Given the description of an element on the screen output the (x, y) to click on. 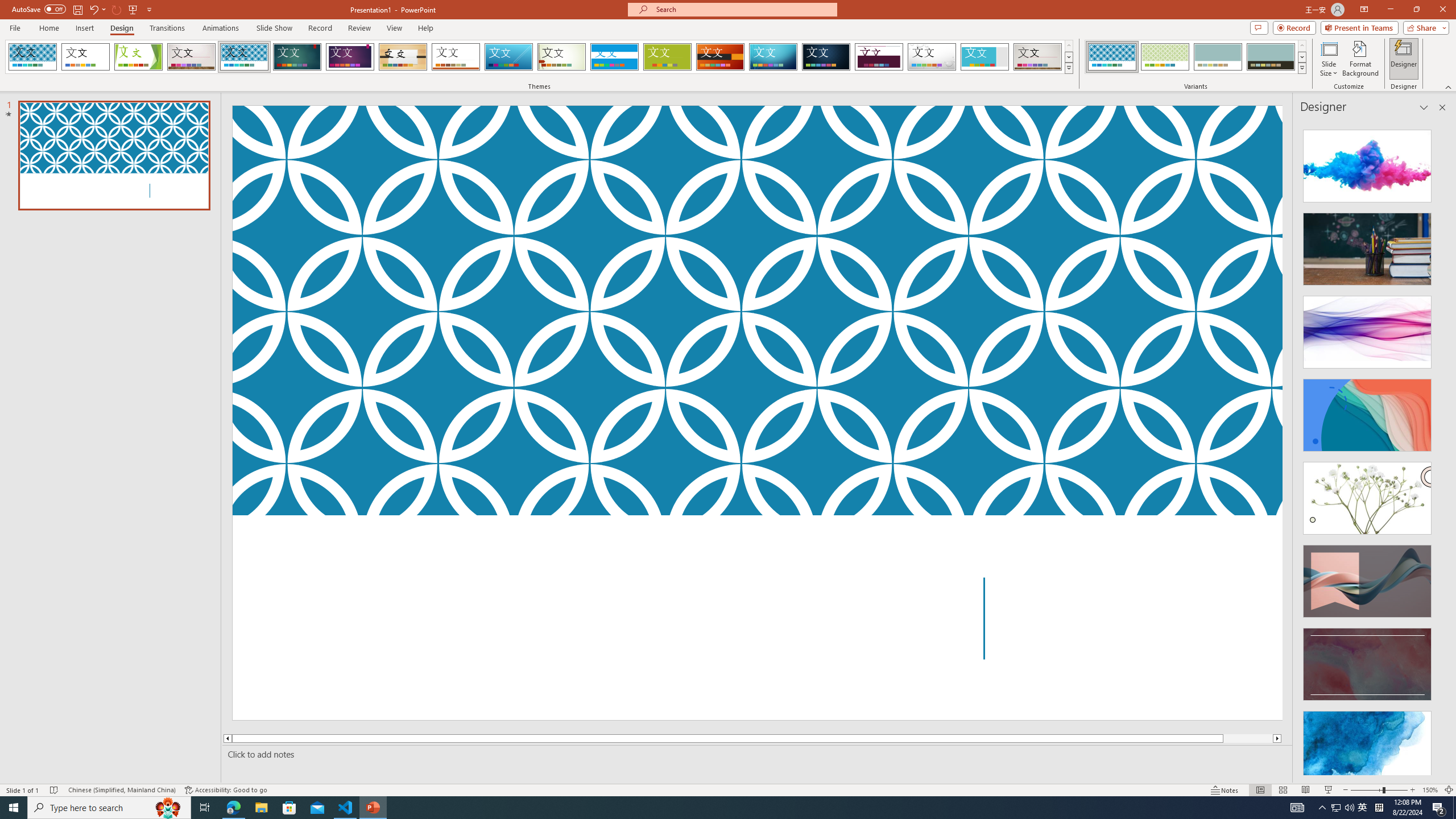
Slide Size (1328, 58)
Row Down (1301, 56)
Microsoft search (742, 9)
Close pane (1441, 107)
Gallery Loading Preview... (1037, 56)
Slice Loading Preview... (508, 56)
Design Idea (1366, 743)
